Given the description of an element on the screen output the (x, y) to click on. 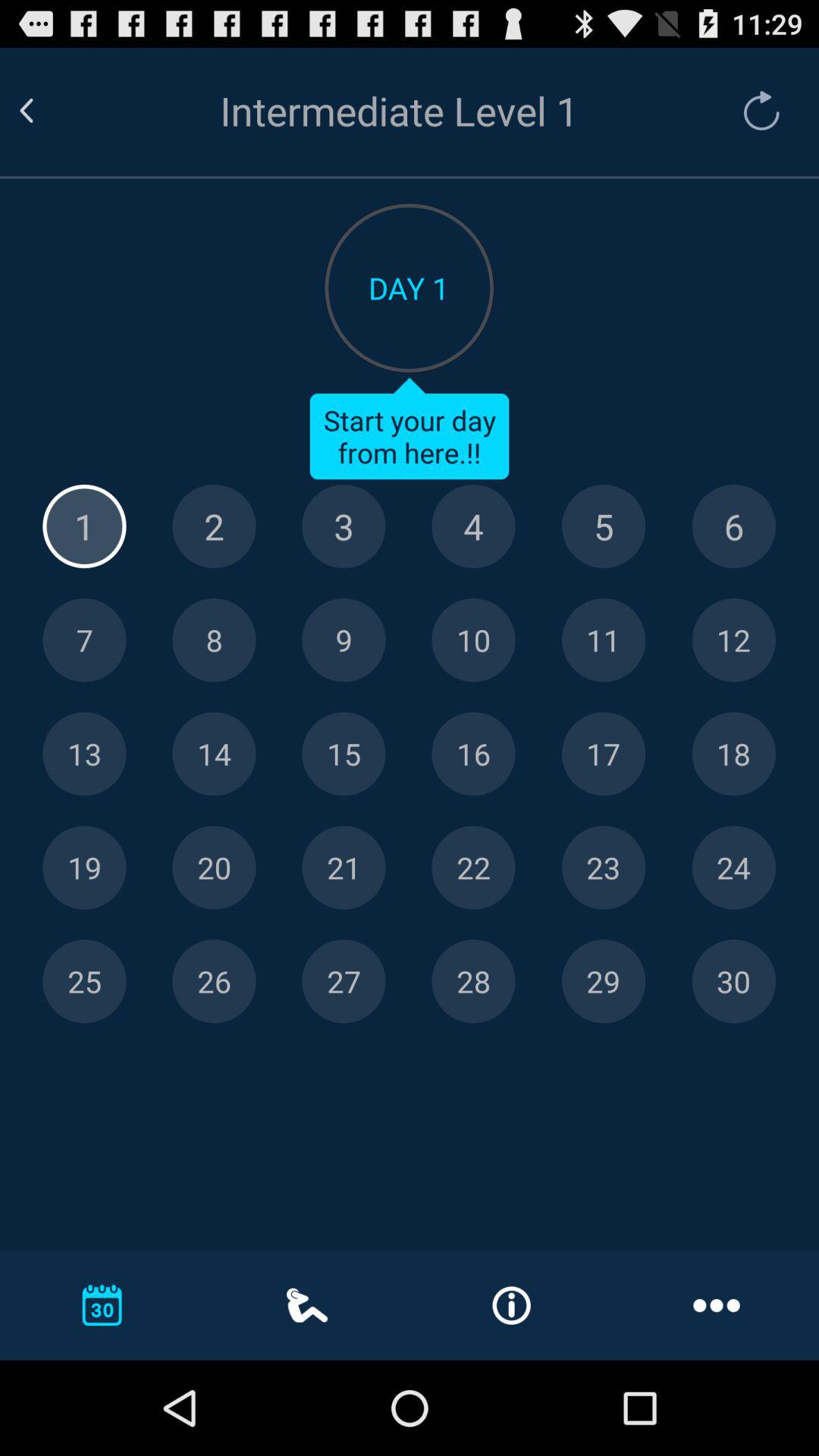
day 14 option (213, 753)
